Given the description of an element on the screen output the (x, y) to click on. 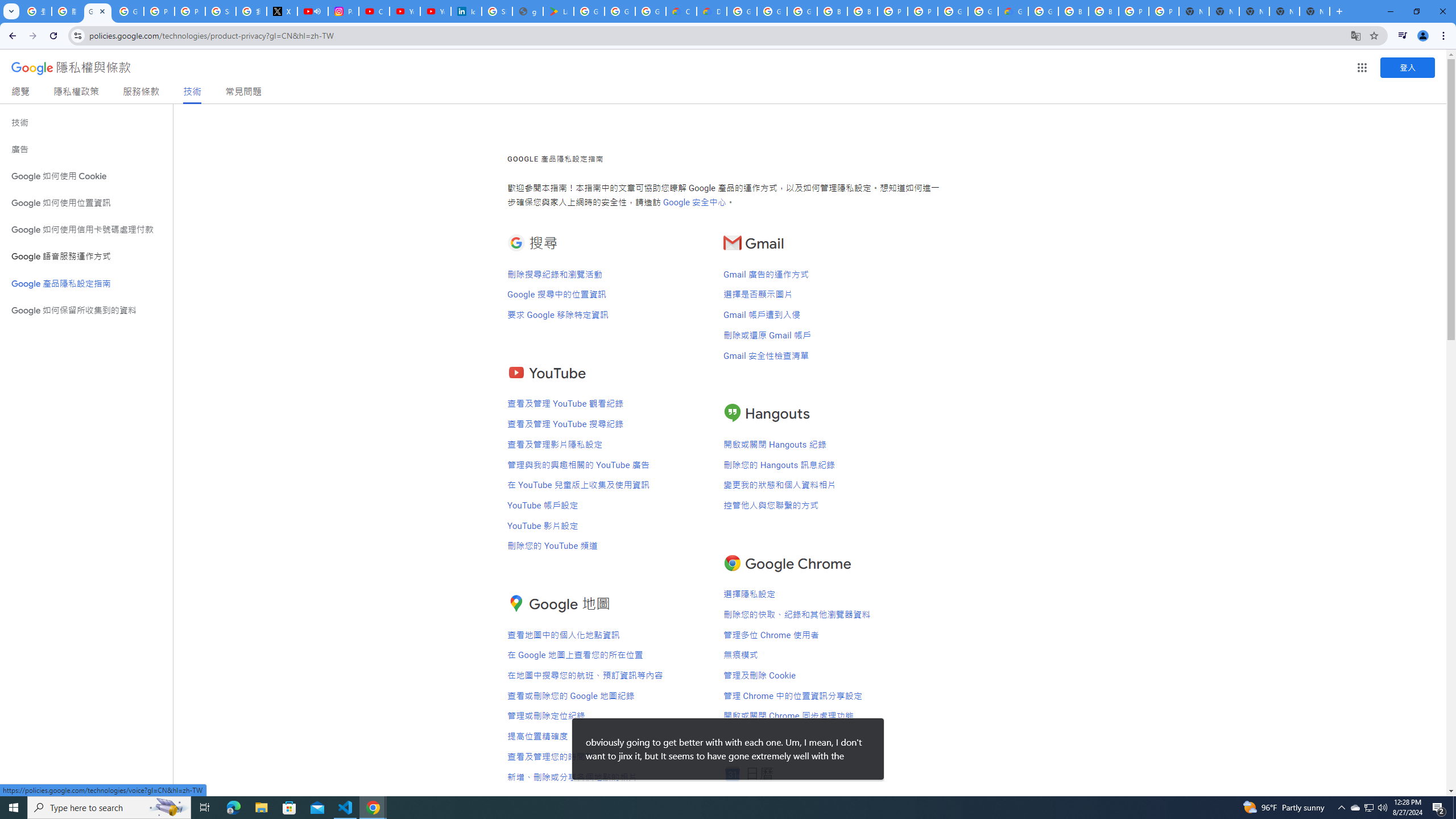
Privacy Help Center - Policies Help (189, 11)
Browse Chrome as a guest - Computer - Google Chrome Help (1072, 11)
Google Workspace - Specific Terms (619, 11)
Translate this page (1355, 35)
YouTube Culture & Trends - YouTube Top 10, 2021 (434, 11)
Customer Care | Google Cloud (681, 11)
